Given the description of an element on the screen output the (x, y) to click on. 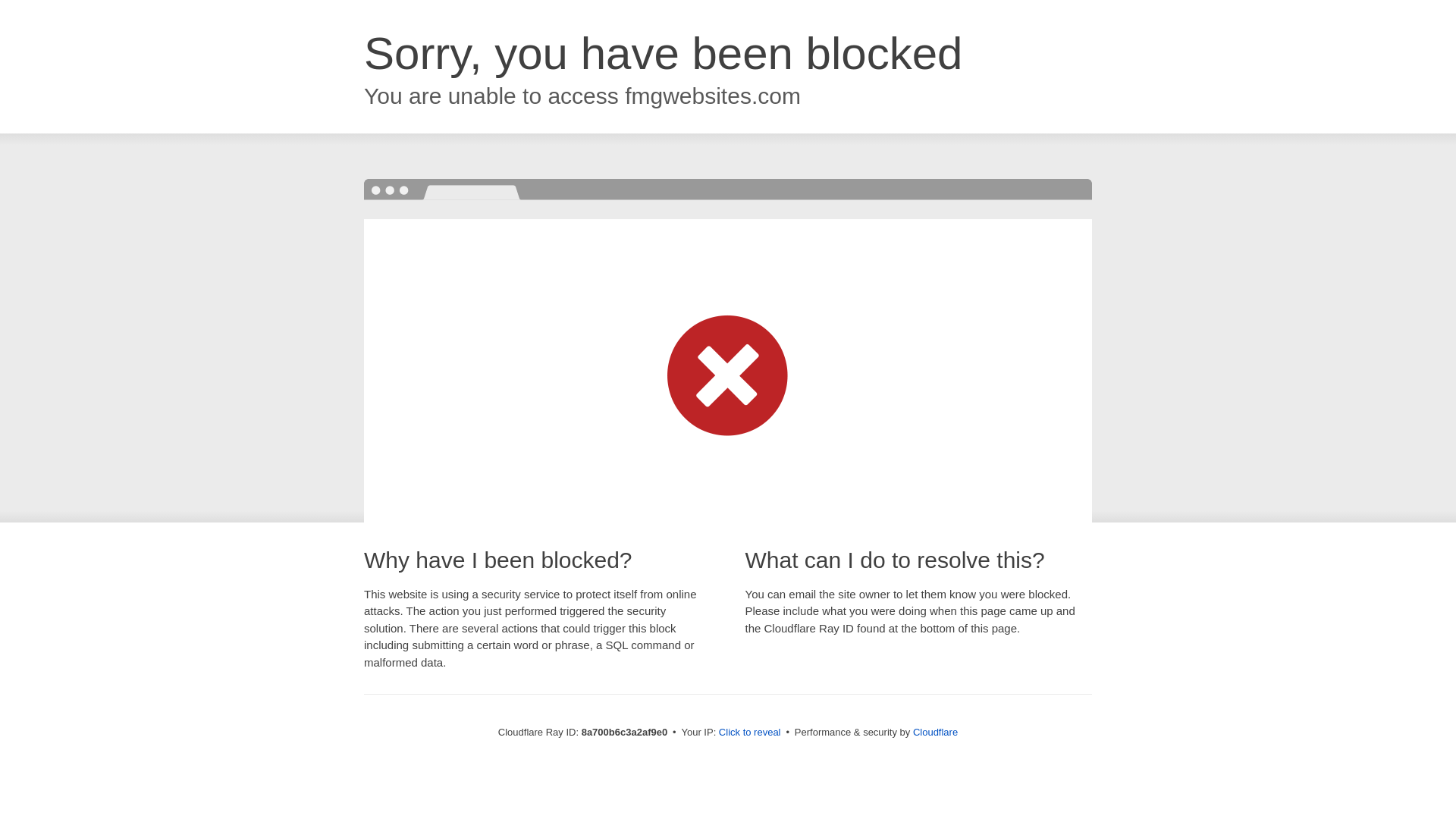
Cloudflare (935, 731)
Click to reveal (749, 732)
